Given the description of an element on the screen output the (x, y) to click on. 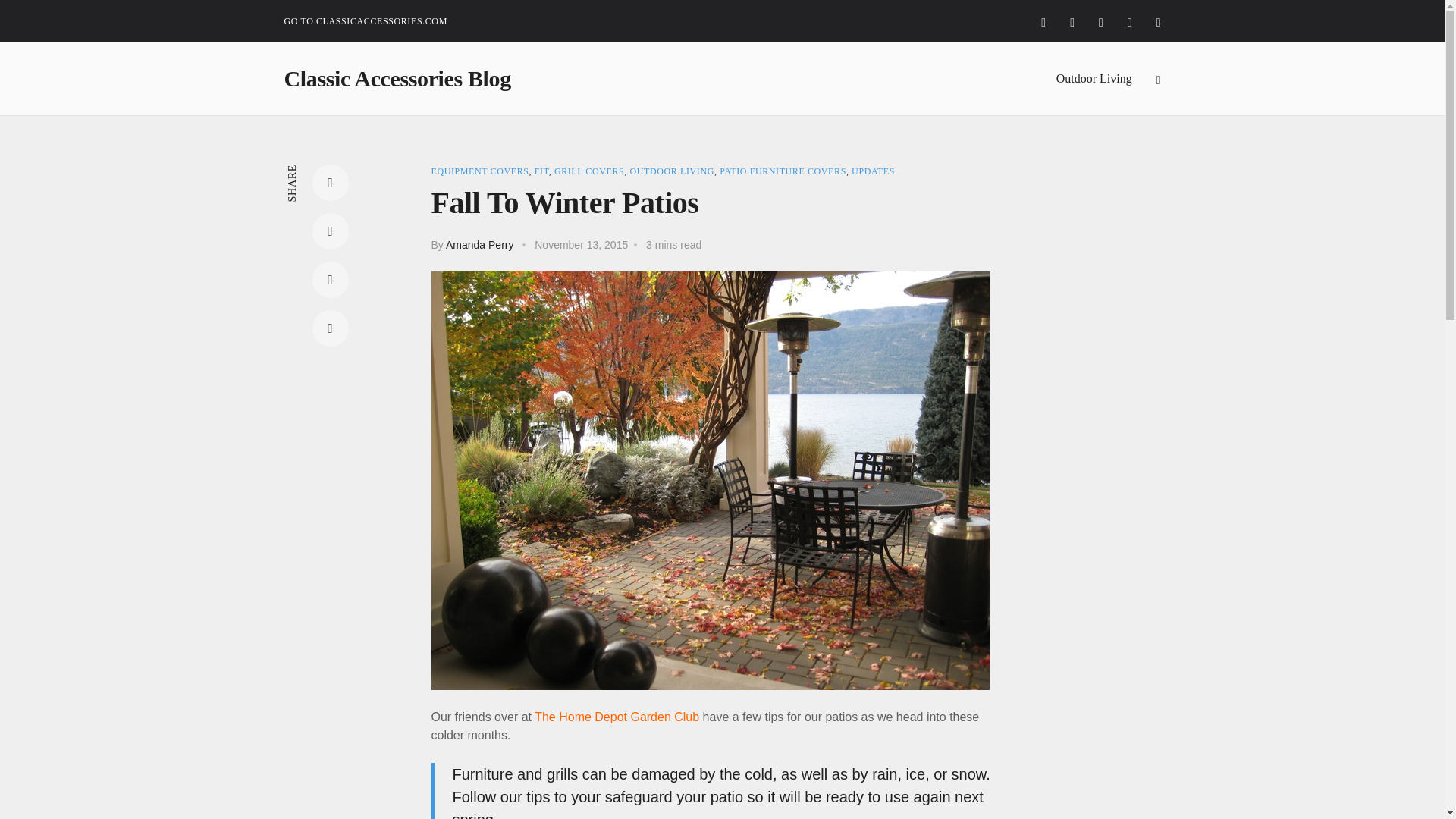
Email (331, 328)
Amanda Perry (479, 244)
Classic Accessories Blog (397, 78)
Facebook (331, 182)
PATIO FURNITURE COVERS (782, 171)
Outdoor Living (1094, 78)
The Home Depot Garden Club (616, 716)
Linkedin (331, 279)
Twitter (331, 230)
OUTDOOR LIVING (672, 171)
EQUIPMENT COVERS (479, 171)
GO TO CLASSICACCESSORIES.COM (364, 20)
GRILL COVERS (589, 171)
FIT (541, 171)
UPDATES (873, 171)
